Given the description of an element on the screen output the (x, y) to click on. 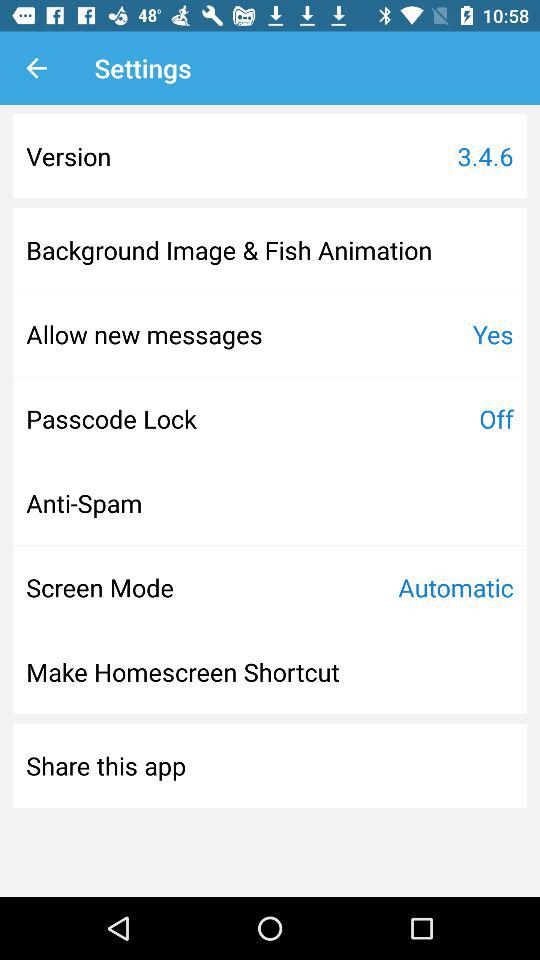
press item below share this app icon (269, 807)
